Given the description of an element on the screen output the (x, y) to click on. 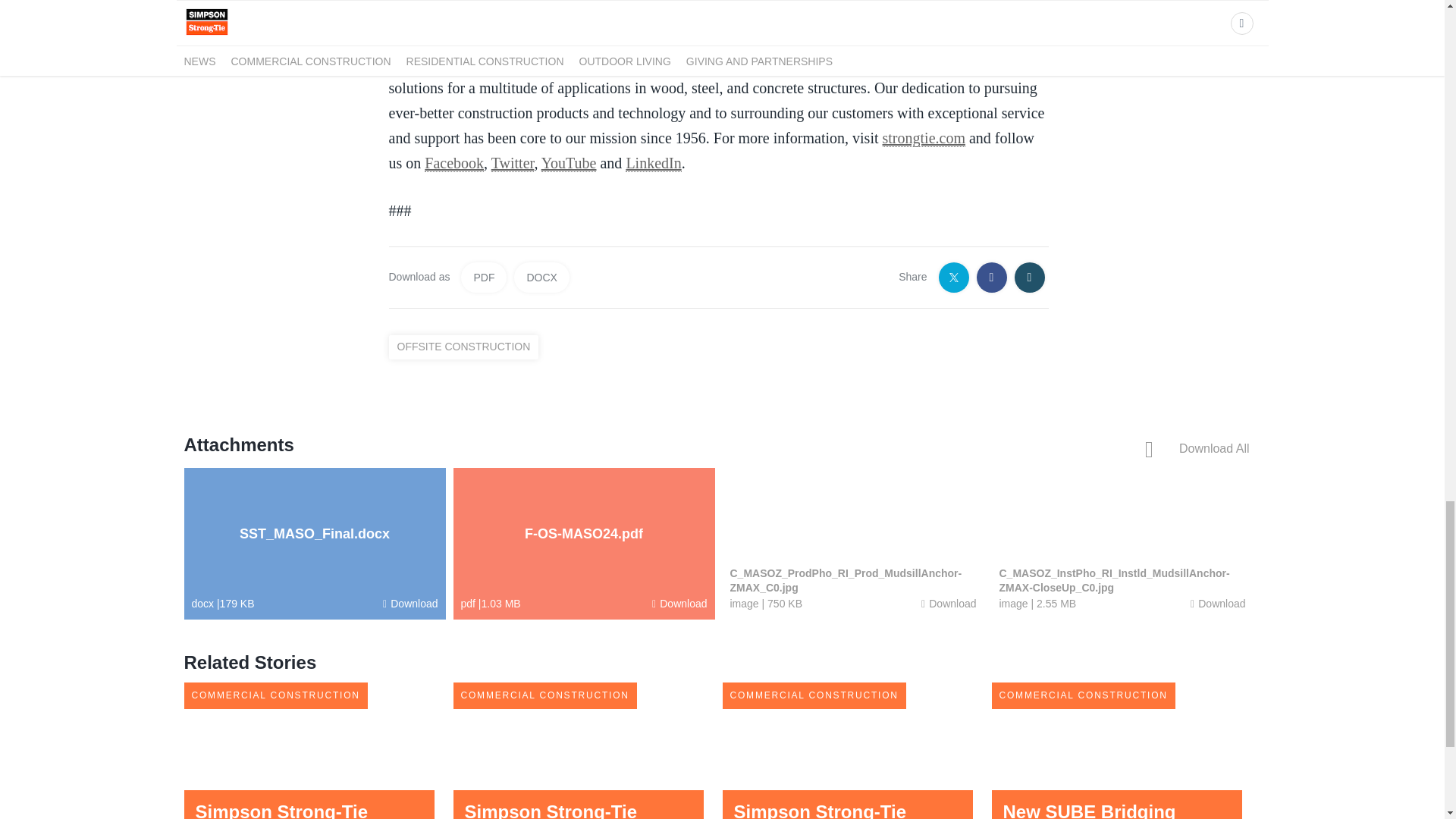
Facebook (454, 162)
DOCX (541, 277)
Twitter (513, 162)
YouTube (568, 162)
PDF (483, 277)
LinkedIn (653, 162)
strongtie.com (923, 138)
OFFSITE CONSTRUCTION (467, 347)
